Given the description of an element on the screen output the (x, y) to click on. 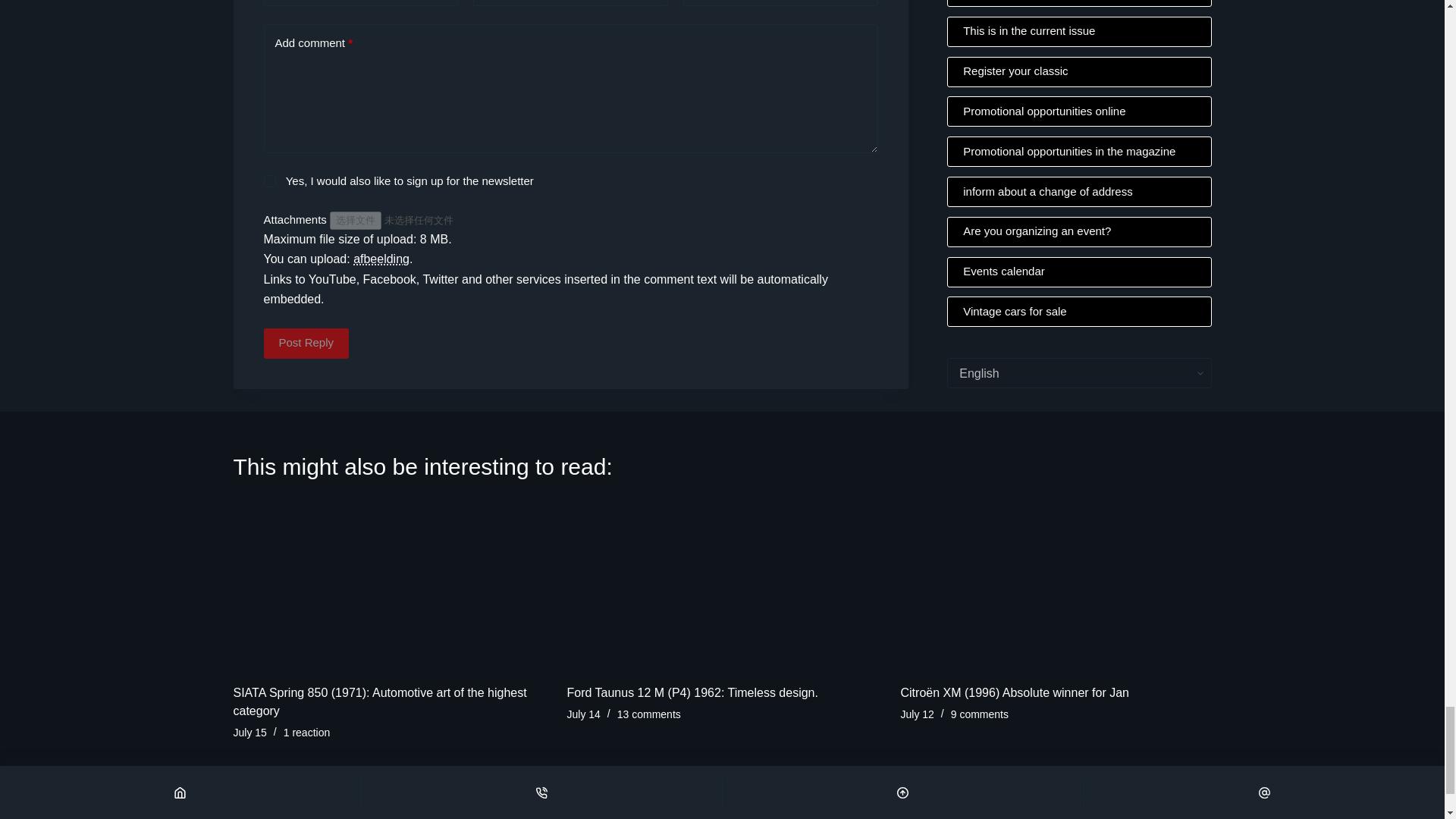
1 (269, 181)
